Given the description of an element on the screen output the (x, y) to click on. 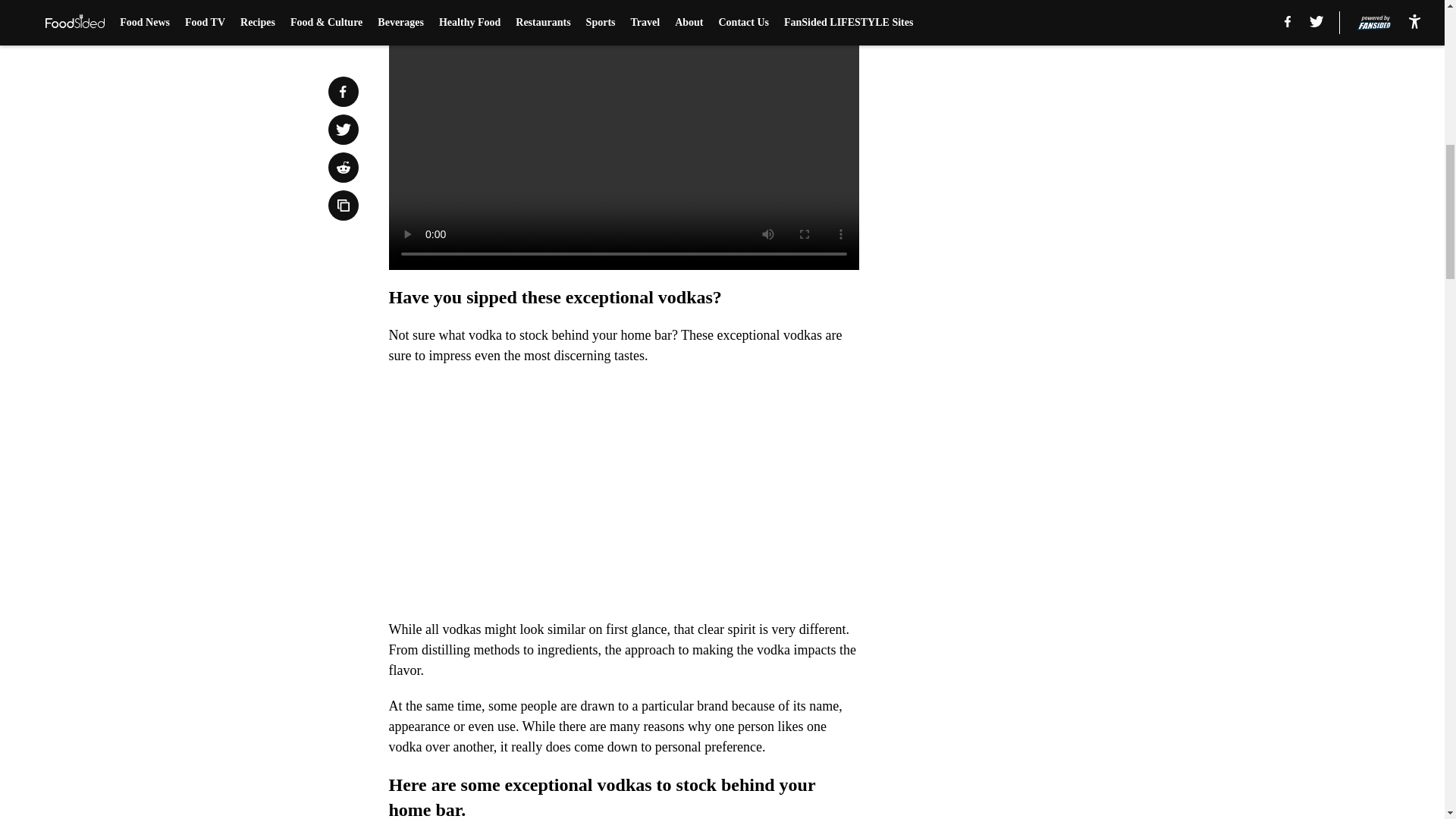
3rd party ad content (1047, 320)
3rd party ad content (1047, 100)
